Given the description of an element on the screen output the (x, y) to click on. 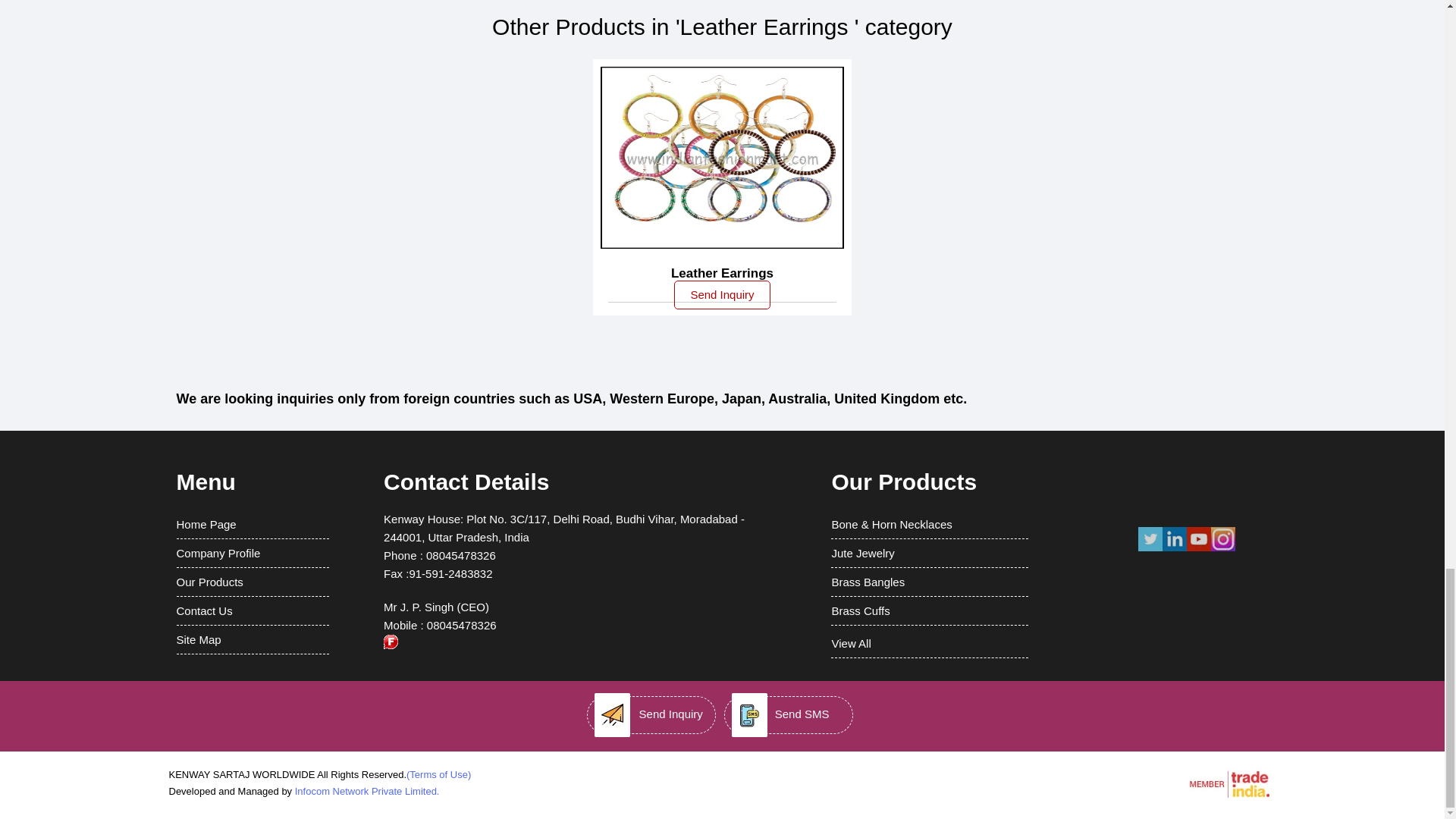
Instagram (1221, 548)
Accepts only Export Inquiries (390, 641)
LinkedIn (1173, 548)
You Tube (1197, 548)
Twitter (1149, 548)
